Given the description of an element on the screen output the (x, y) to click on. 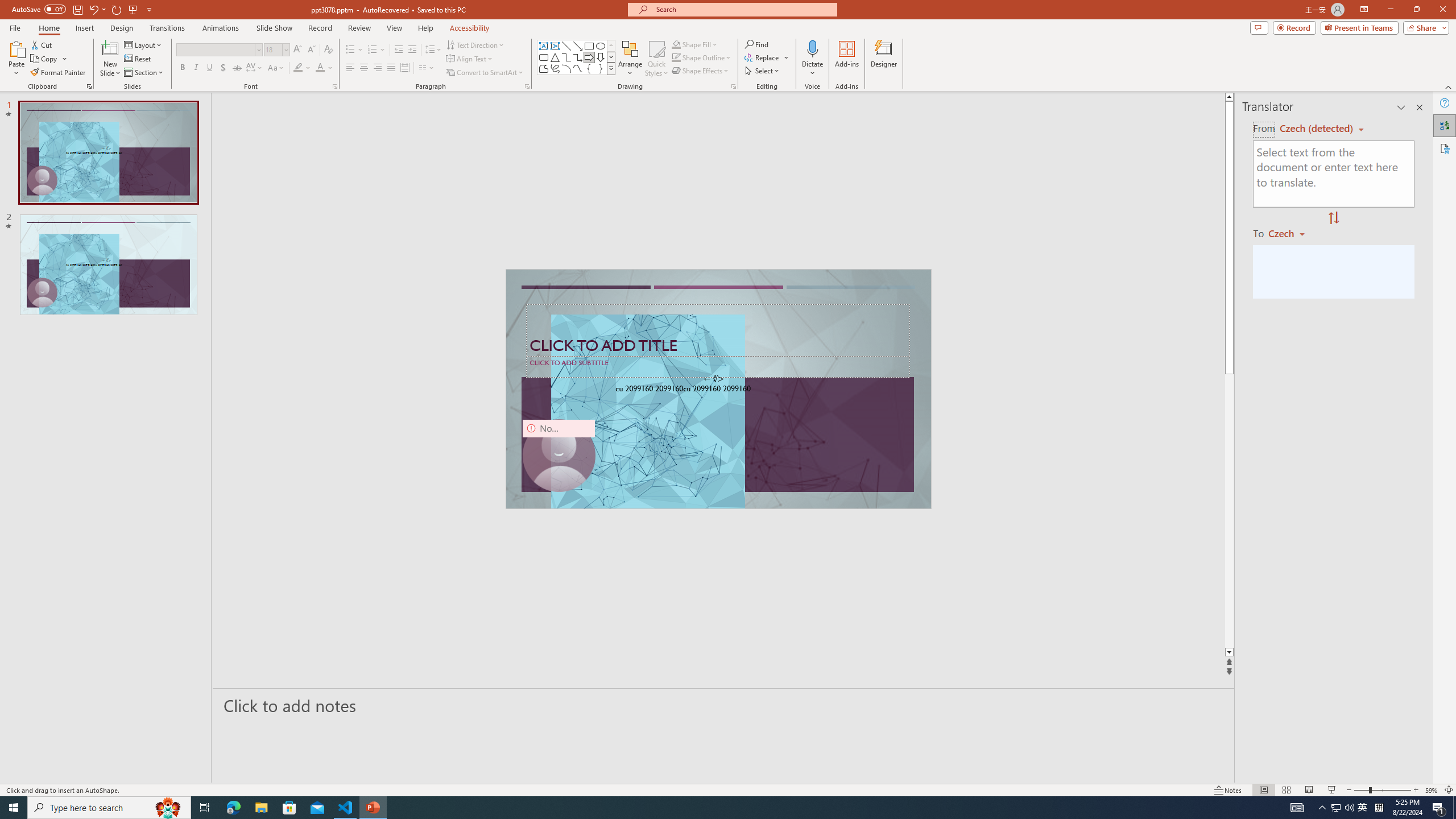
Czech (1291, 232)
TextBox 61 (717, 389)
